Given the description of an element on the screen output the (x, y) to click on. 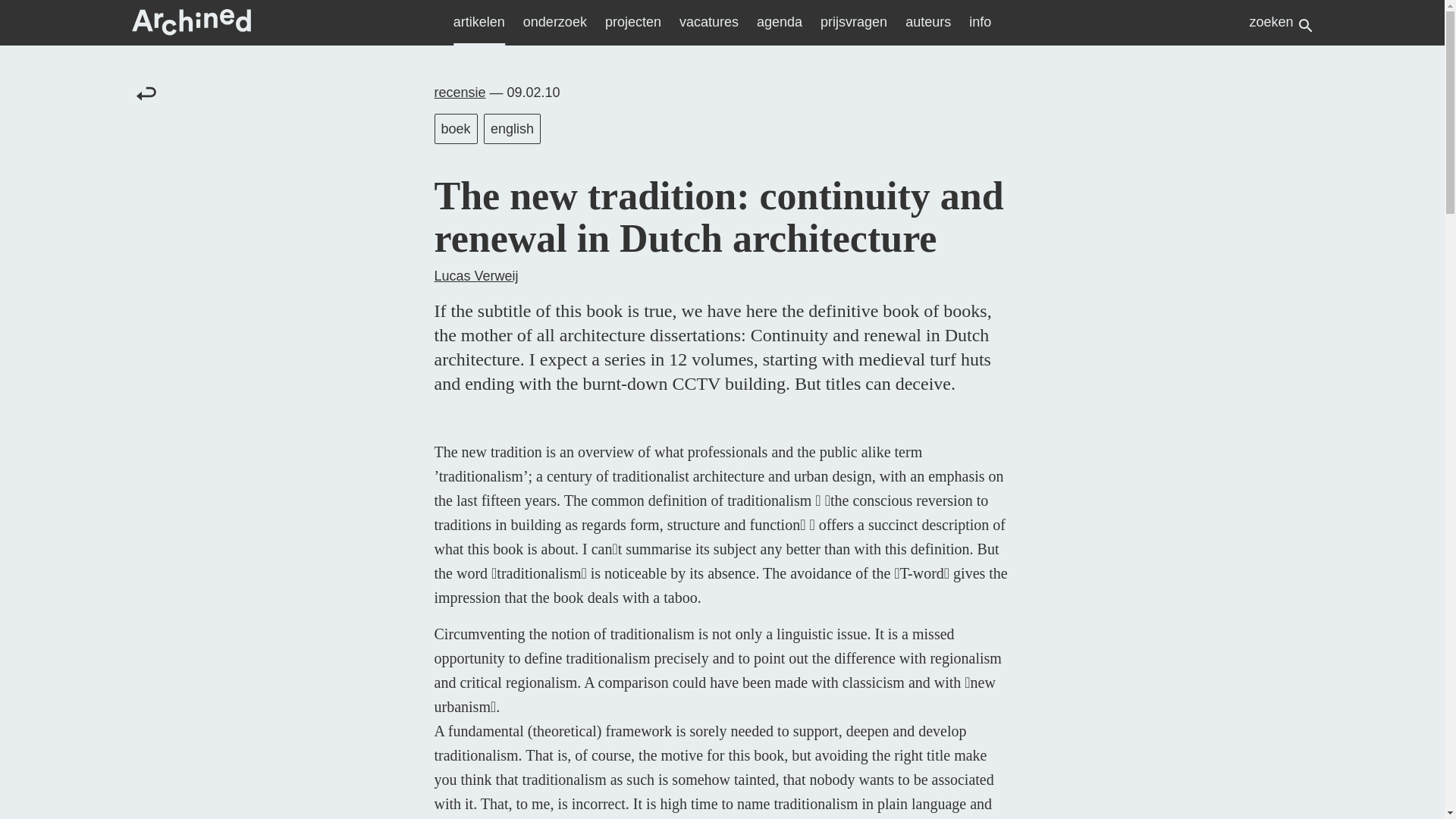
Lucas Verweij (475, 275)
Terug naar overzicht (145, 93)
Terug naar overzicht (145, 93)
projecten (633, 22)
zoeken (1281, 24)
recensie (458, 92)
boek (455, 128)
info (980, 22)
english (512, 128)
onderzoek (554, 22)
